Given the description of an element on the screen output the (x, y) to click on. 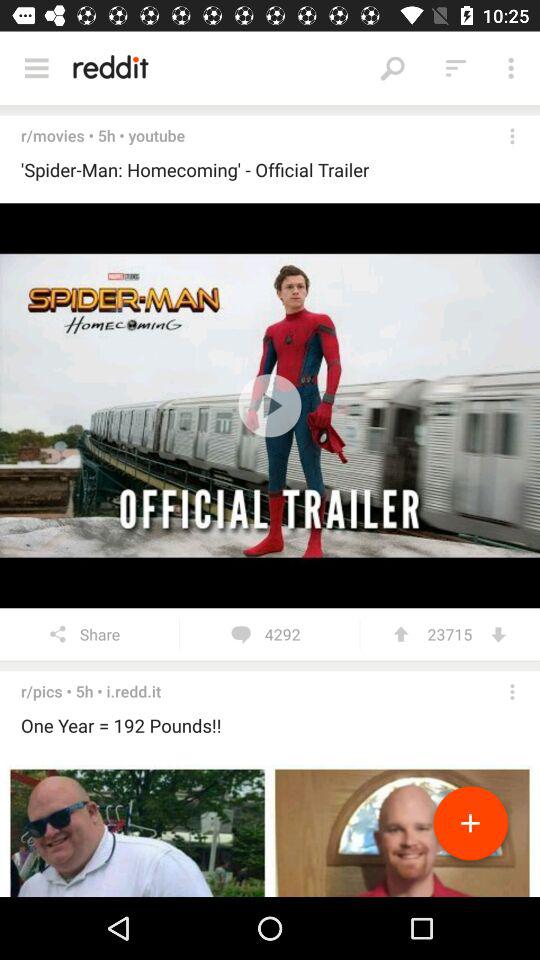
tap item to the right of the 23715 (498, 634)
